Given the description of an element on the screen output the (x, y) to click on. 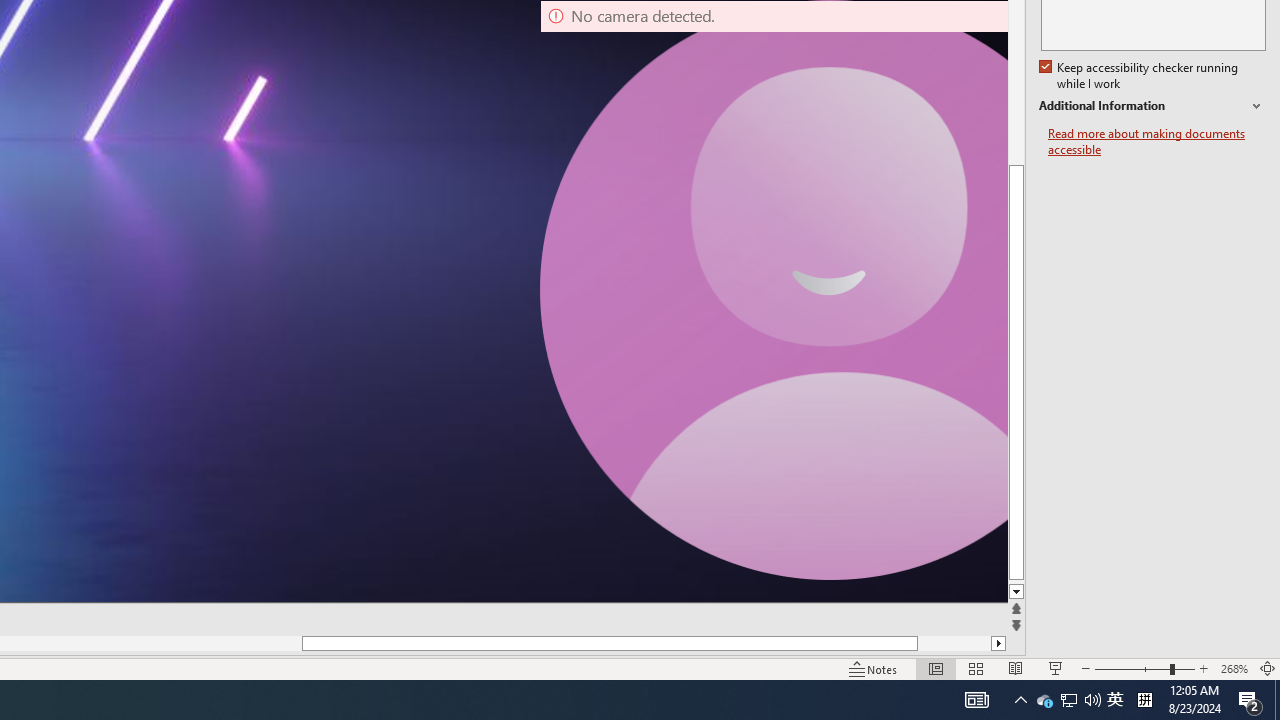
Reading View (1015, 668)
Notes  (874, 668)
Zoom 268% (1234, 668)
Zoom to Fit  (1267, 668)
Normal (936, 668)
Zoom Out (1131, 668)
Zoom In (1204, 668)
Keep accessibility checker running while I work (1140, 76)
Zoom (1144, 668)
Additional Information (1152, 106)
Read more about making documents accessible (1156, 142)
Slide Sorter (975, 668)
